Given the description of an element on the screen output the (x, y) to click on. 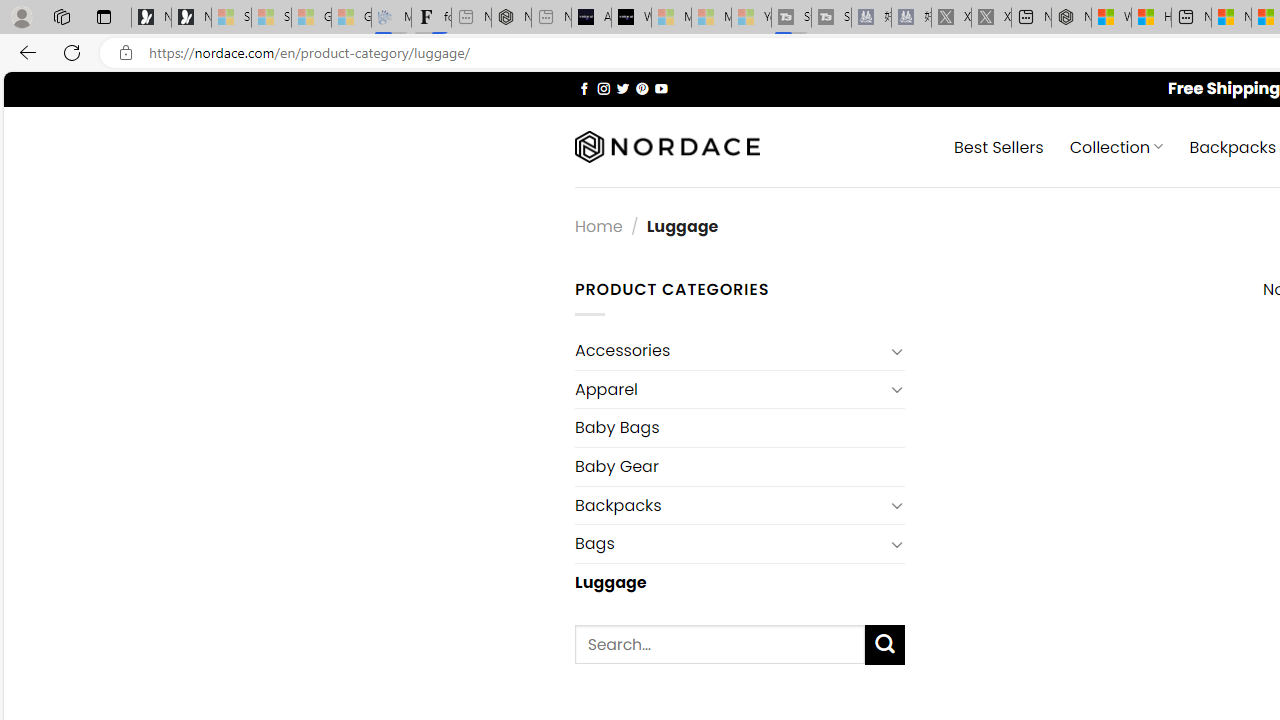
Streaming Coverage | T3 - Sleeping (791, 17)
Refresh (72, 52)
New tab (1191, 17)
View site information (125, 53)
Back (24, 52)
Follow on Facebook (584, 88)
Accessories (729, 350)
Follow on Instagram (603, 88)
Bags (729, 543)
Baby Bags (739, 427)
X - Sleeping (991, 17)
Personal Profile (21, 16)
Newsletter Sign Up (191, 17)
